Given the description of an element on the screen output the (x, y) to click on. 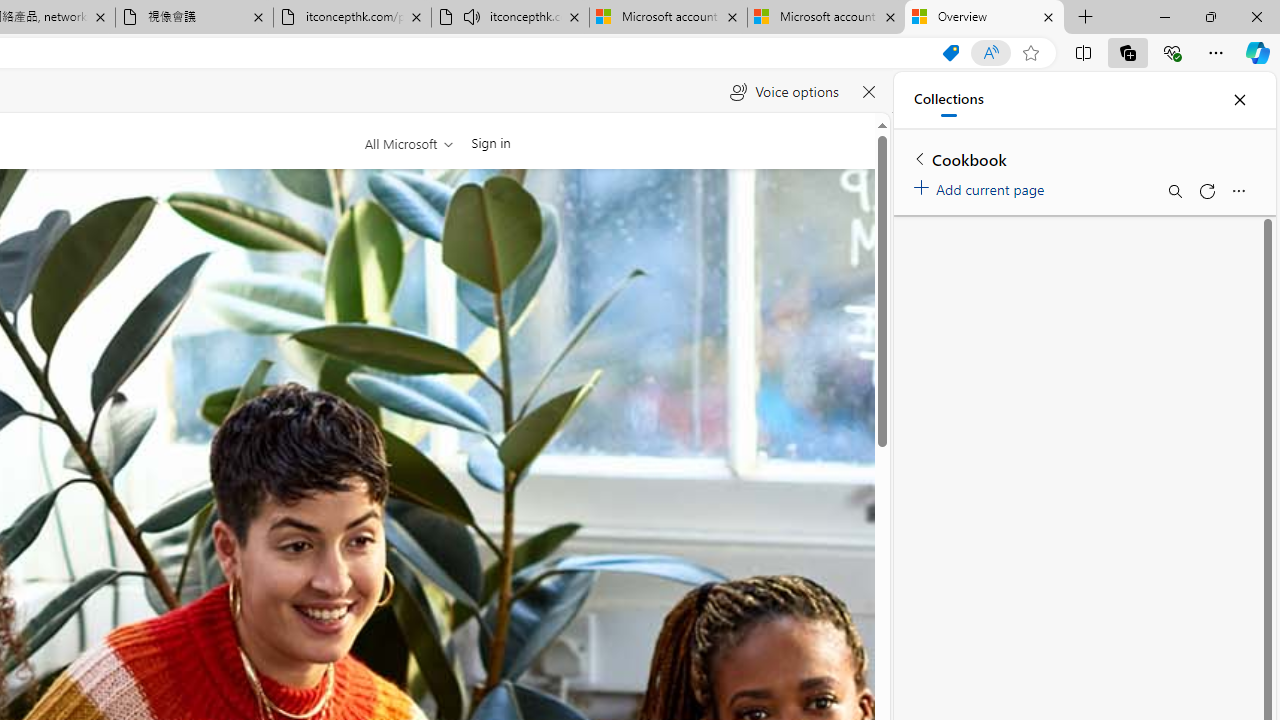
Add current page (982, 186)
itconcepthk.com/projector_solutions.mp4 - Audio playing (509, 17)
Mute tab (471, 16)
Close read aloud (868, 92)
